Given the description of an element on the screen output the (x, y) to click on. 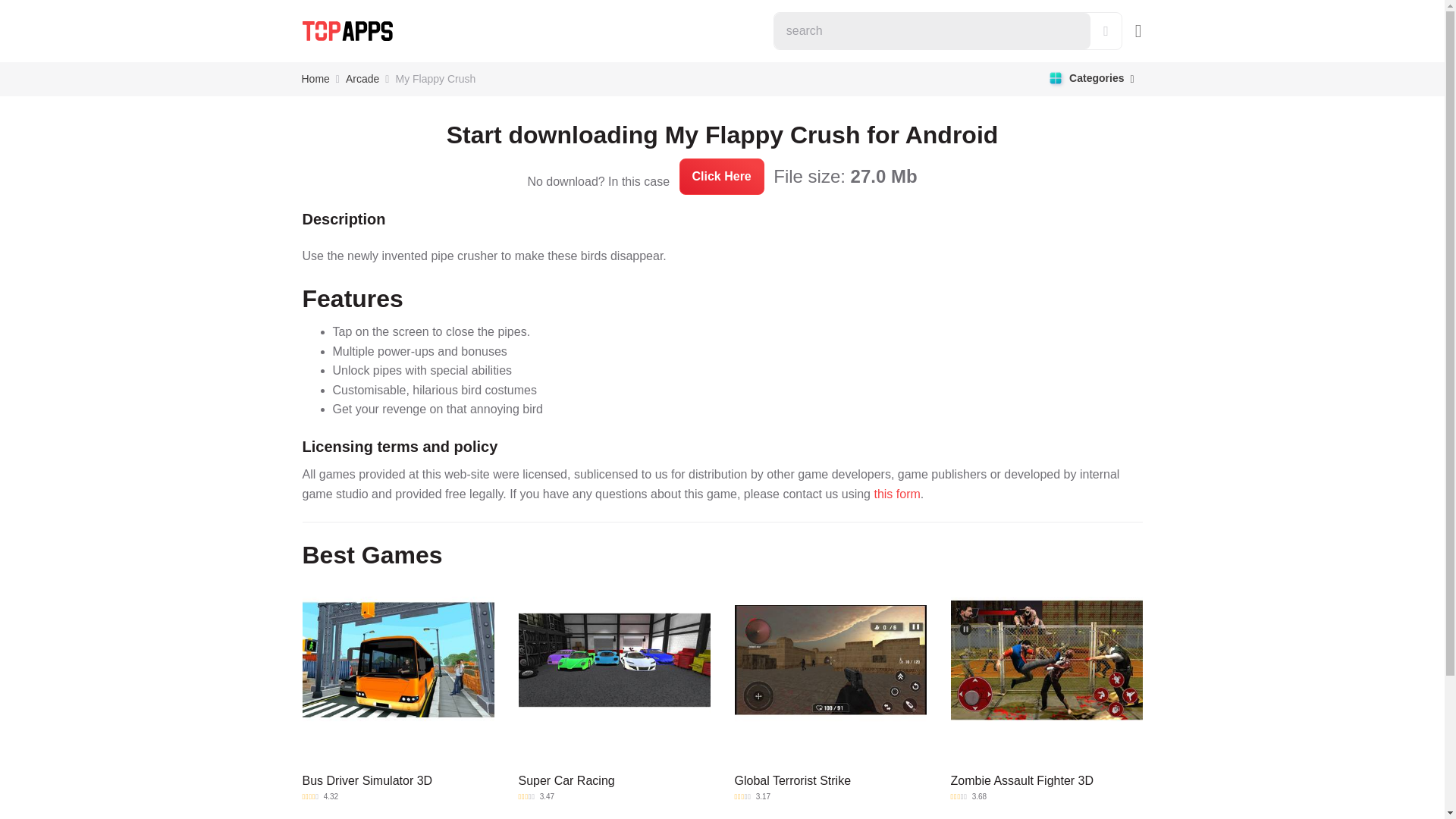
Bus Driver Simulator 3D (397, 660)
Categories (1090, 78)
Super Car Racing (614, 660)
Home (315, 78)
Global Terrorist Strike (829, 660)
Arcade (362, 78)
Zombie Assault Fighter 3D (1046, 660)
